Given the description of an element on the screen output the (x, y) to click on. 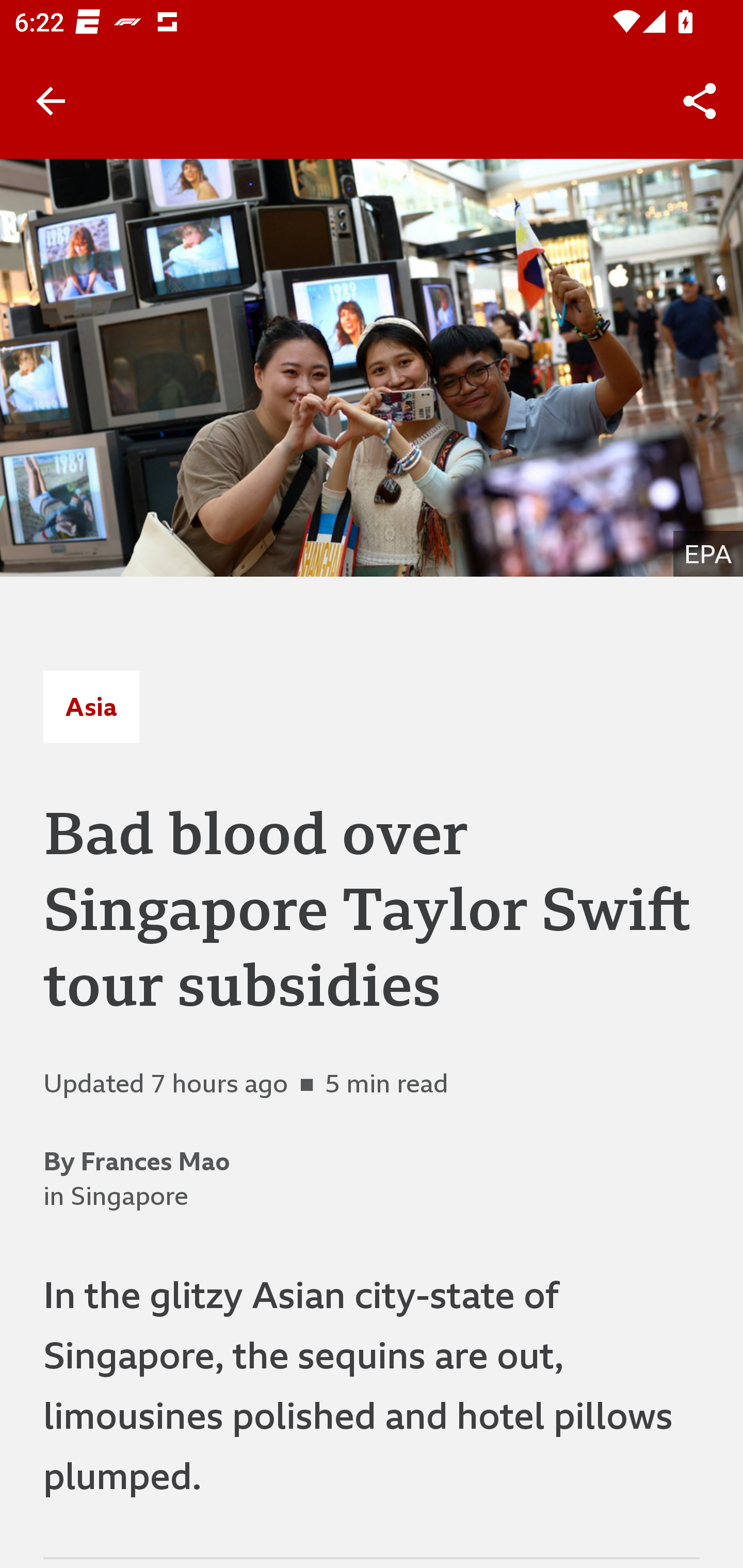
Back (50, 101)
Share (699, 101)
Asia (91, 706)
